Given the description of an element on the screen output the (x, y) to click on. 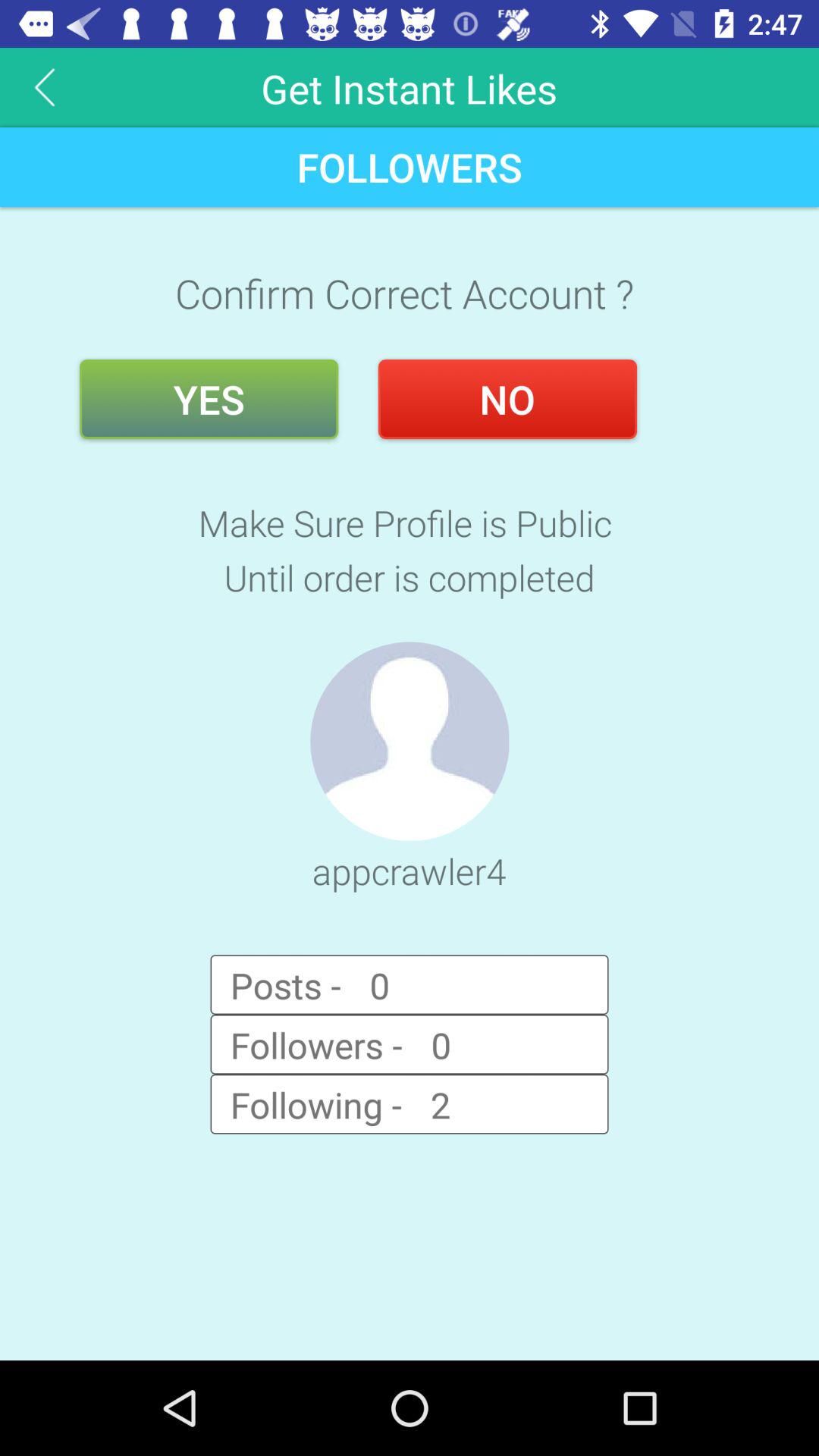
turn on the button to the right of yes button (507, 399)
